Given the description of an element on the screen output the (x, y) to click on. 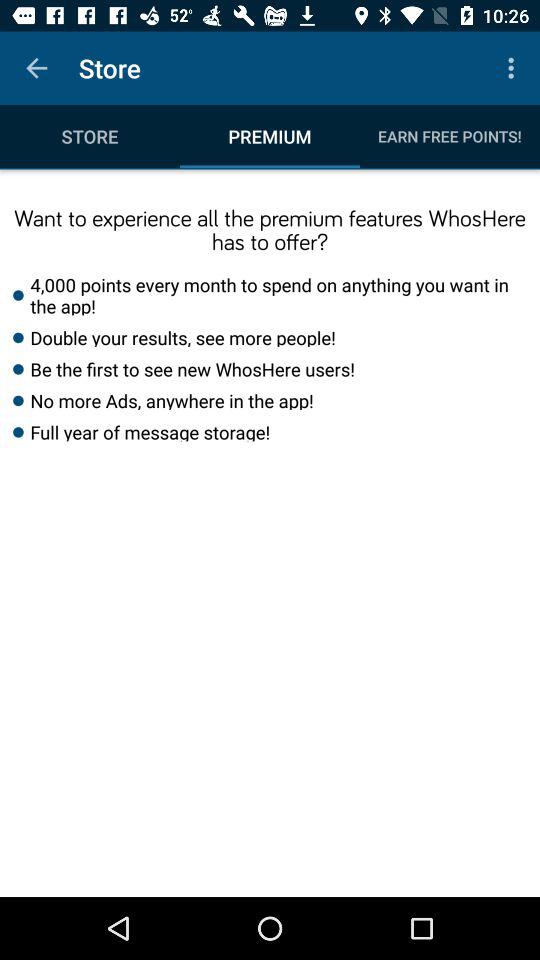
open the item next to store icon (513, 67)
